Given the description of an element on the screen output the (x, y) to click on. 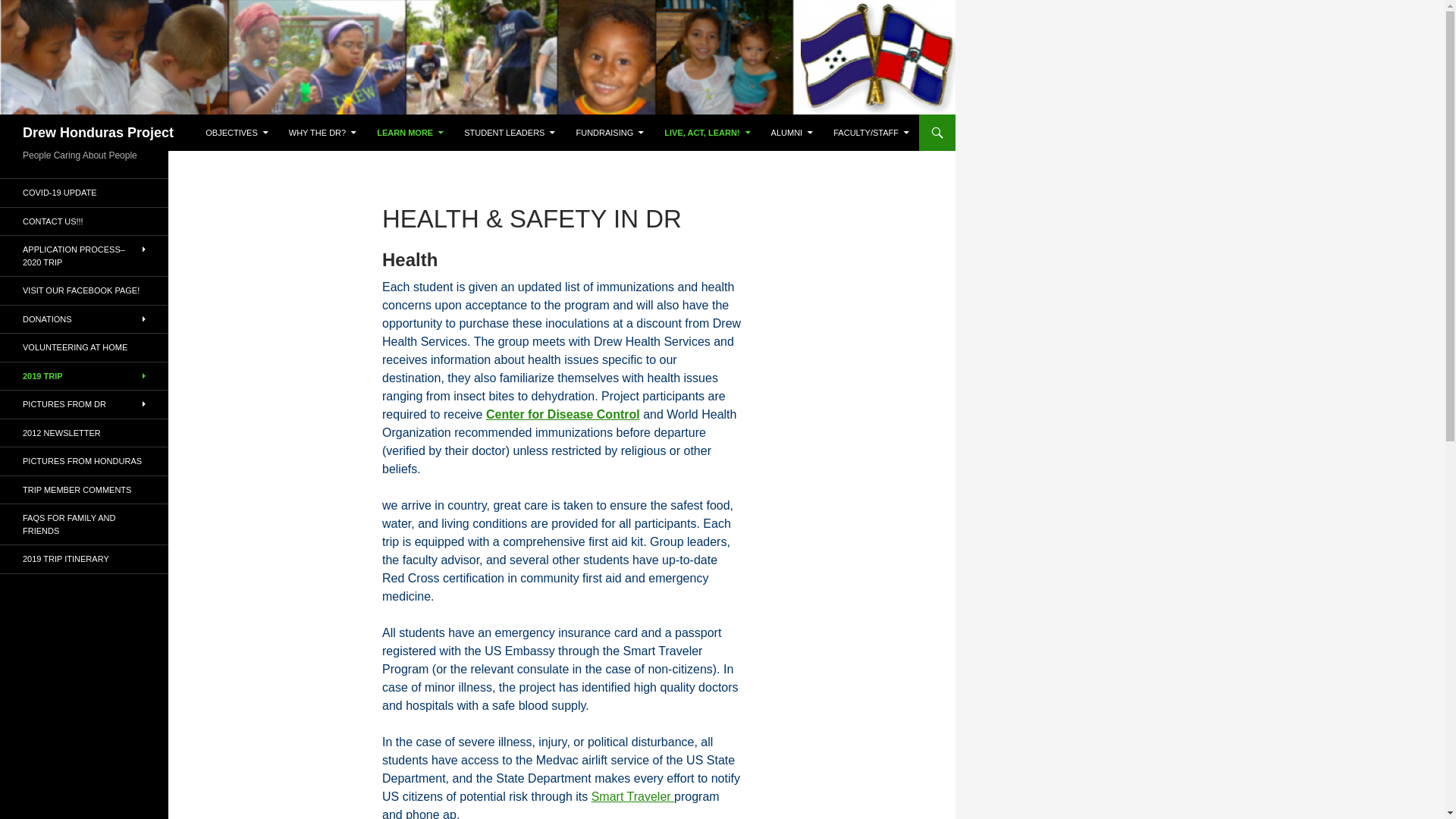
STUDENT LEADERS (509, 132)
CDC for DR (563, 413)
FUNDRAISING (609, 132)
Search (23, 123)
state dept. (632, 796)
Drew Honduras Project (98, 132)
WHY THE DR? (322, 132)
LEARN MORE (410, 132)
SKIP TO CONTENT (242, 120)
OBJECTIVES (236, 132)
